Given the description of an element on the screen output the (x, y) to click on. 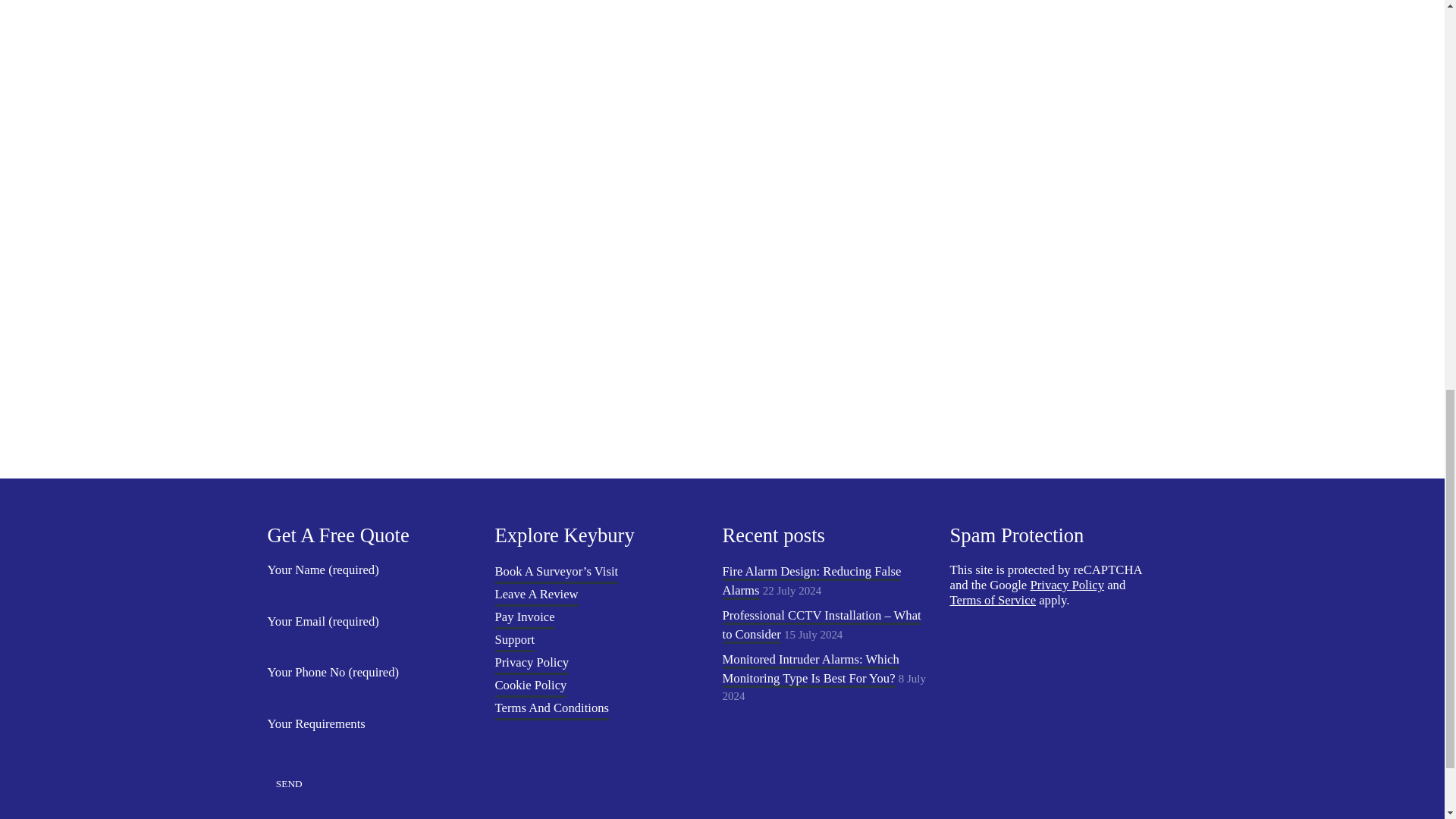
Send (288, 784)
Send (288, 784)
